Given the description of an element on the screen output the (x, y) to click on. 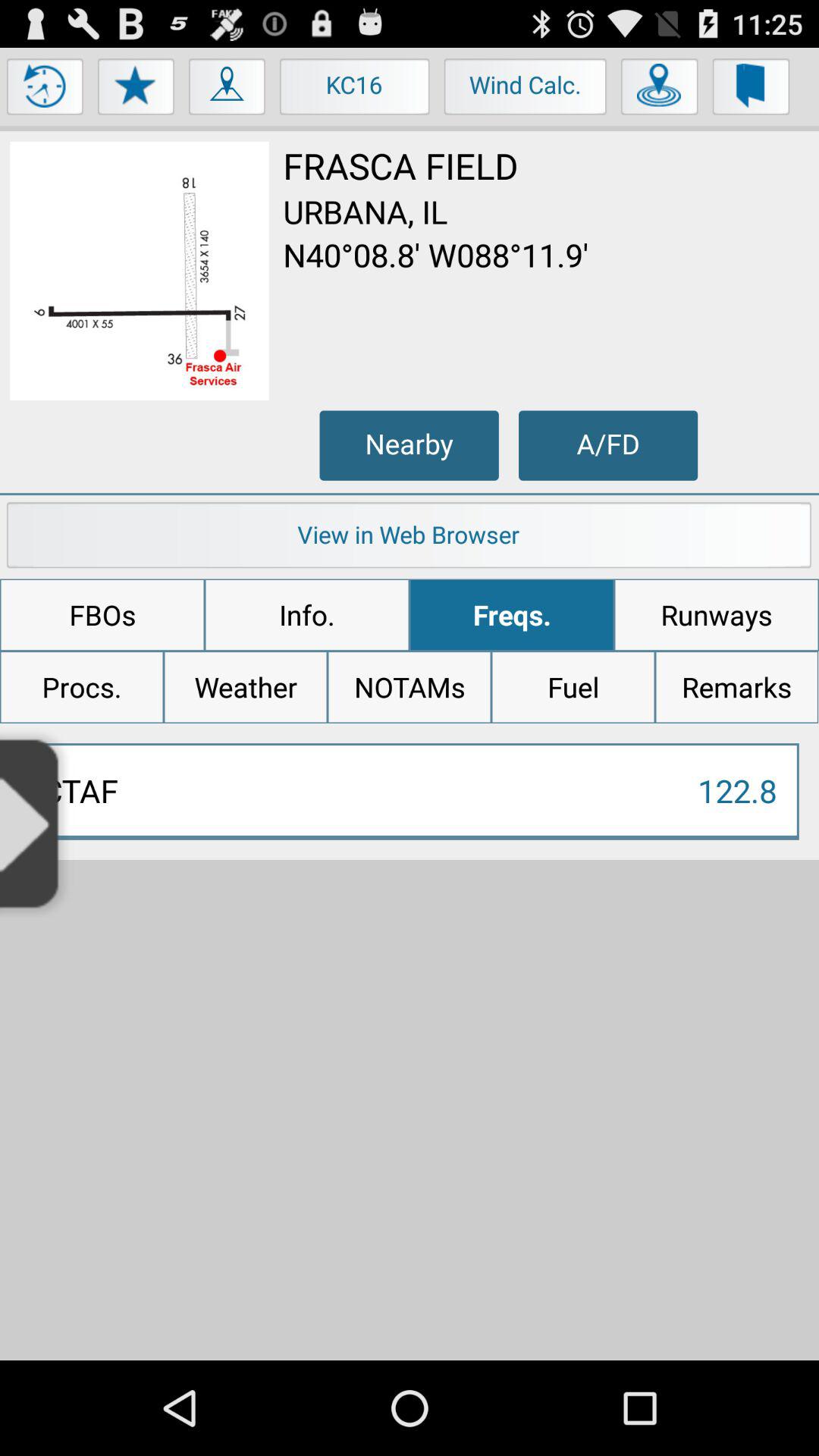
click item below fbos icon (245, 687)
